Given the description of an element on the screen output the (x, y) to click on. 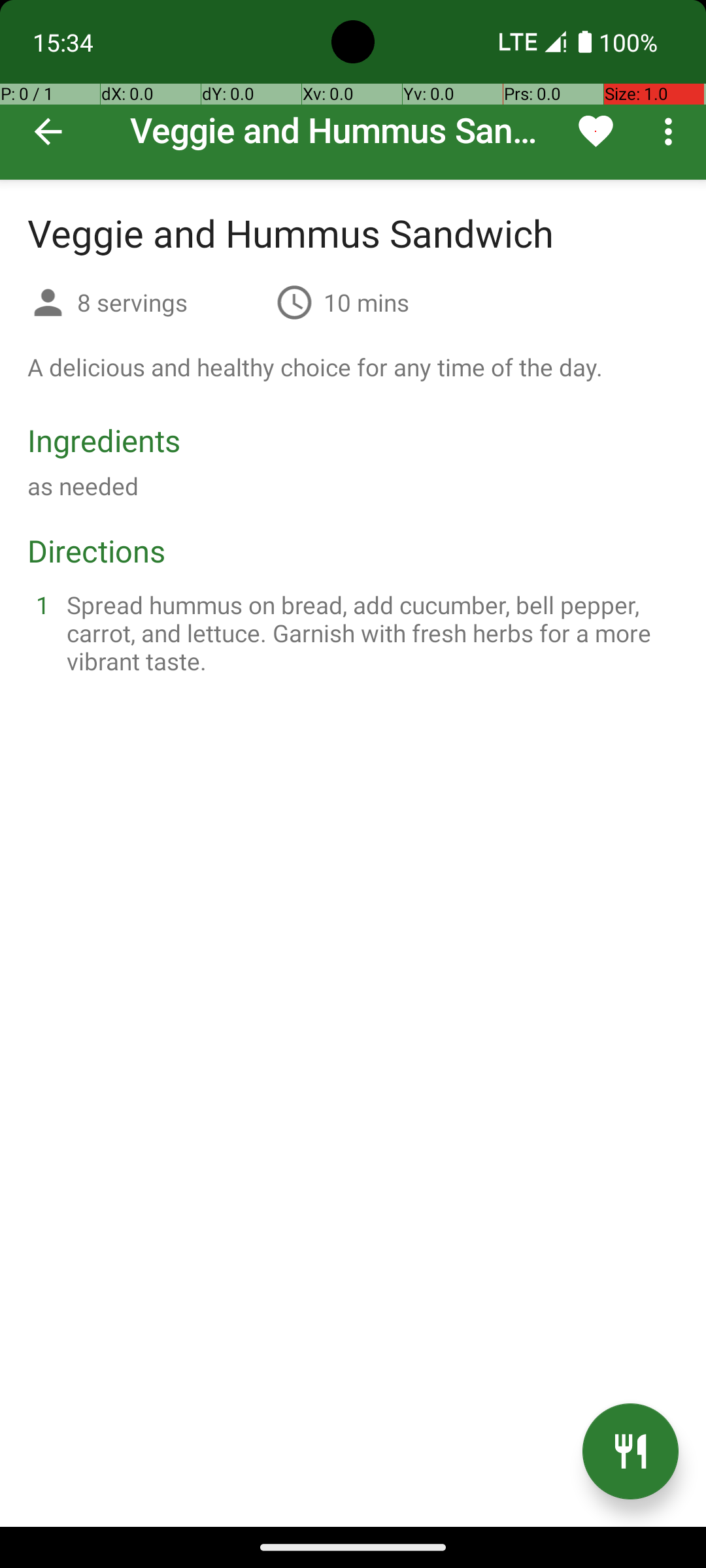
Veggie and Hummus Sandwich Element type: android.widget.FrameLayout (353, 89)
Spread hummus on bread, add cucumber, bell pepper, carrot, and lettuce. Garnish with fresh herbs for a more vibrant taste. Element type: android.widget.TextView (368, 632)
